Given the description of an element on the screen output the (x, y) to click on. 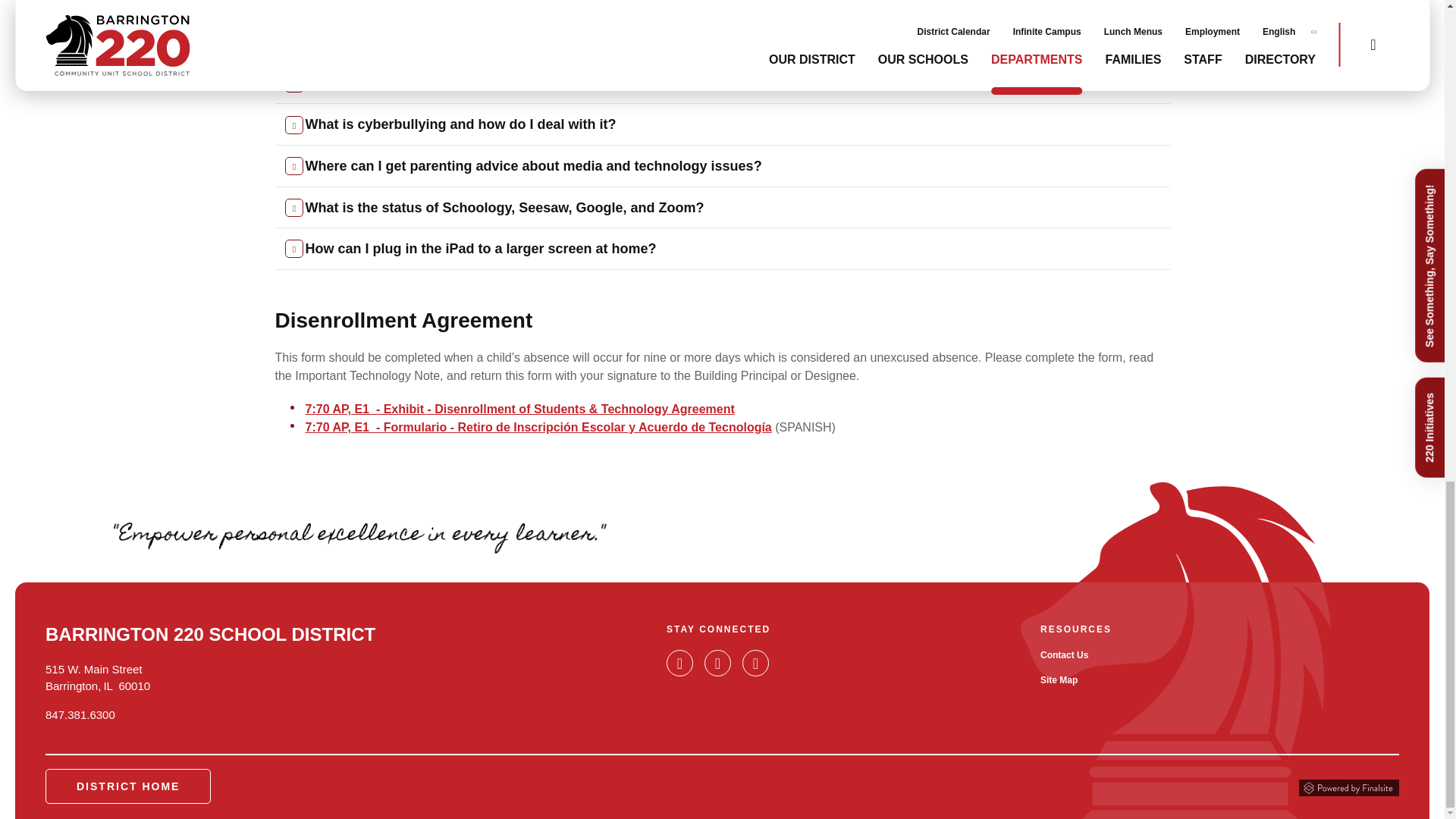
Powered by Finalsite opens in a new window (1348, 785)
